Given the description of an element on the screen output the (x, y) to click on. 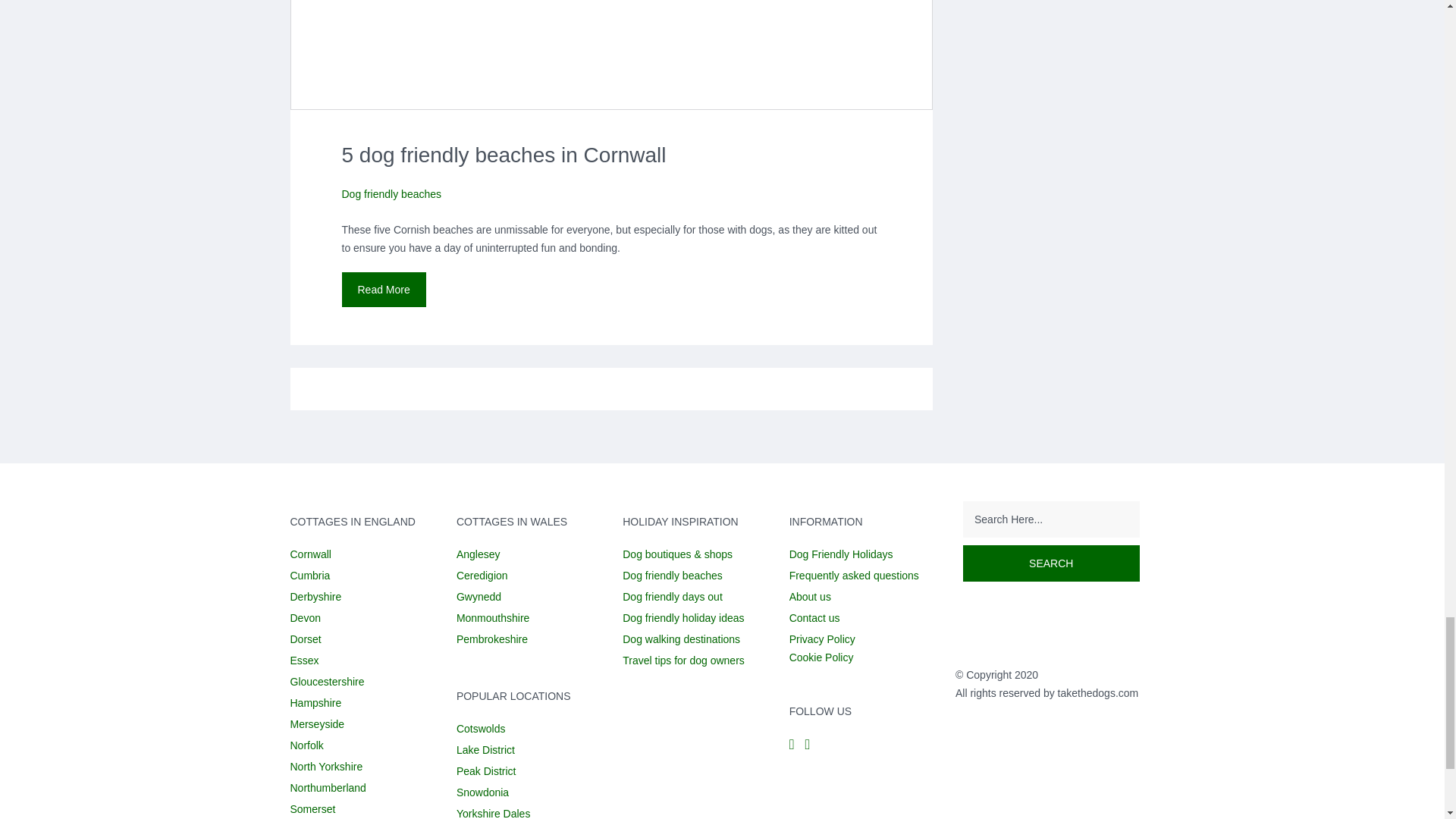
5 dog friendly beaches in Cornwall (612, 54)
Search (1051, 563)
